Given the description of an element on the screen output the (x, y) to click on. 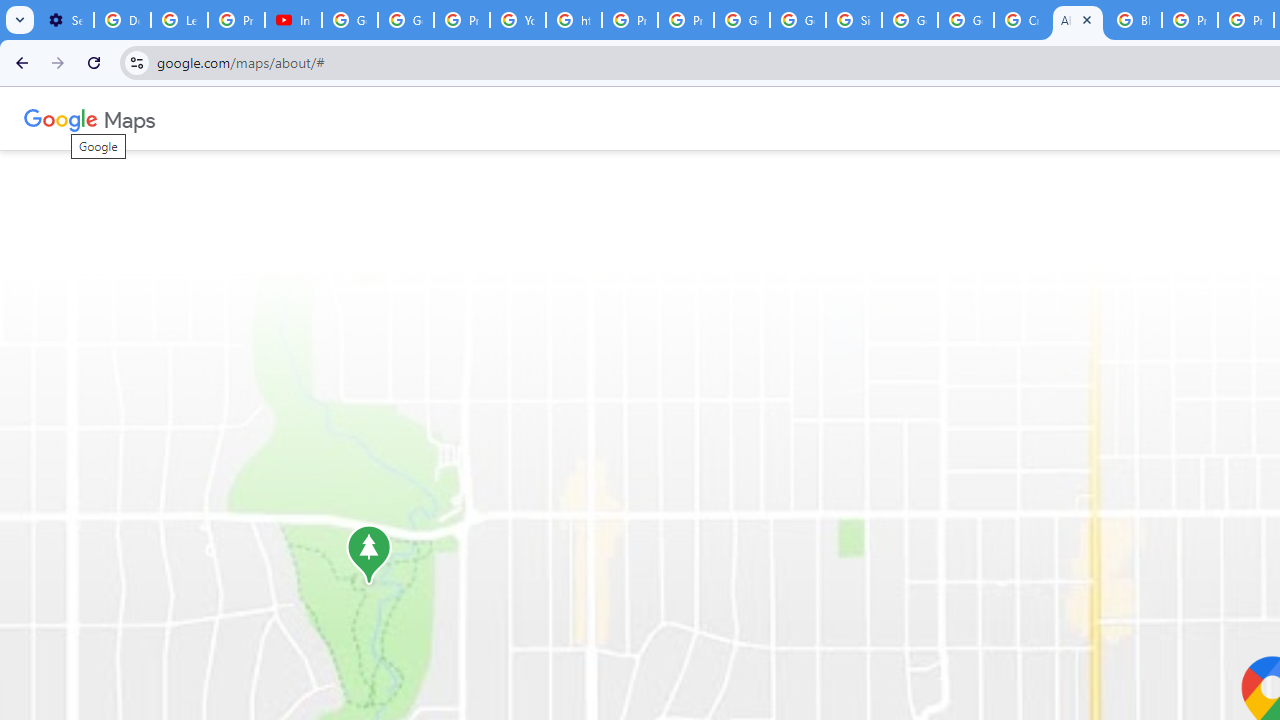
Delete photos & videos - Computer - Google Photos Help (122, 20)
Introduction | Google Privacy Policy - YouTube (293, 20)
Blogger Policies and Guidelines - Transparency Center (1133, 20)
Skip to Content (264, 115)
Privacy Help Center - Policies Help (629, 20)
